Given the description of an element on the screen output the (x, y) to click on. 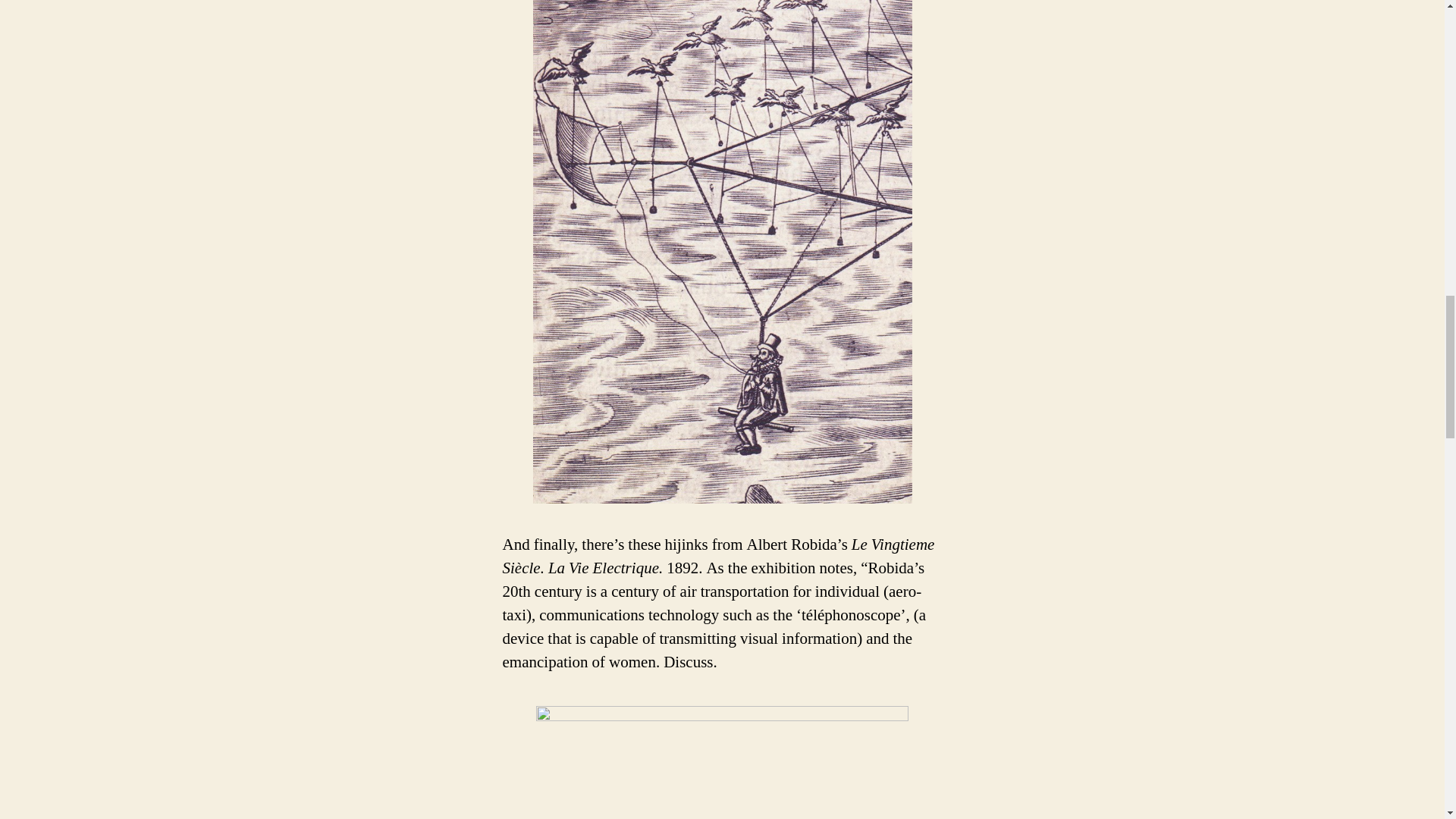
Le Vingtieme Siecle (721, 762)
